Given the description of an element on the screen output the (x, y) to click on. 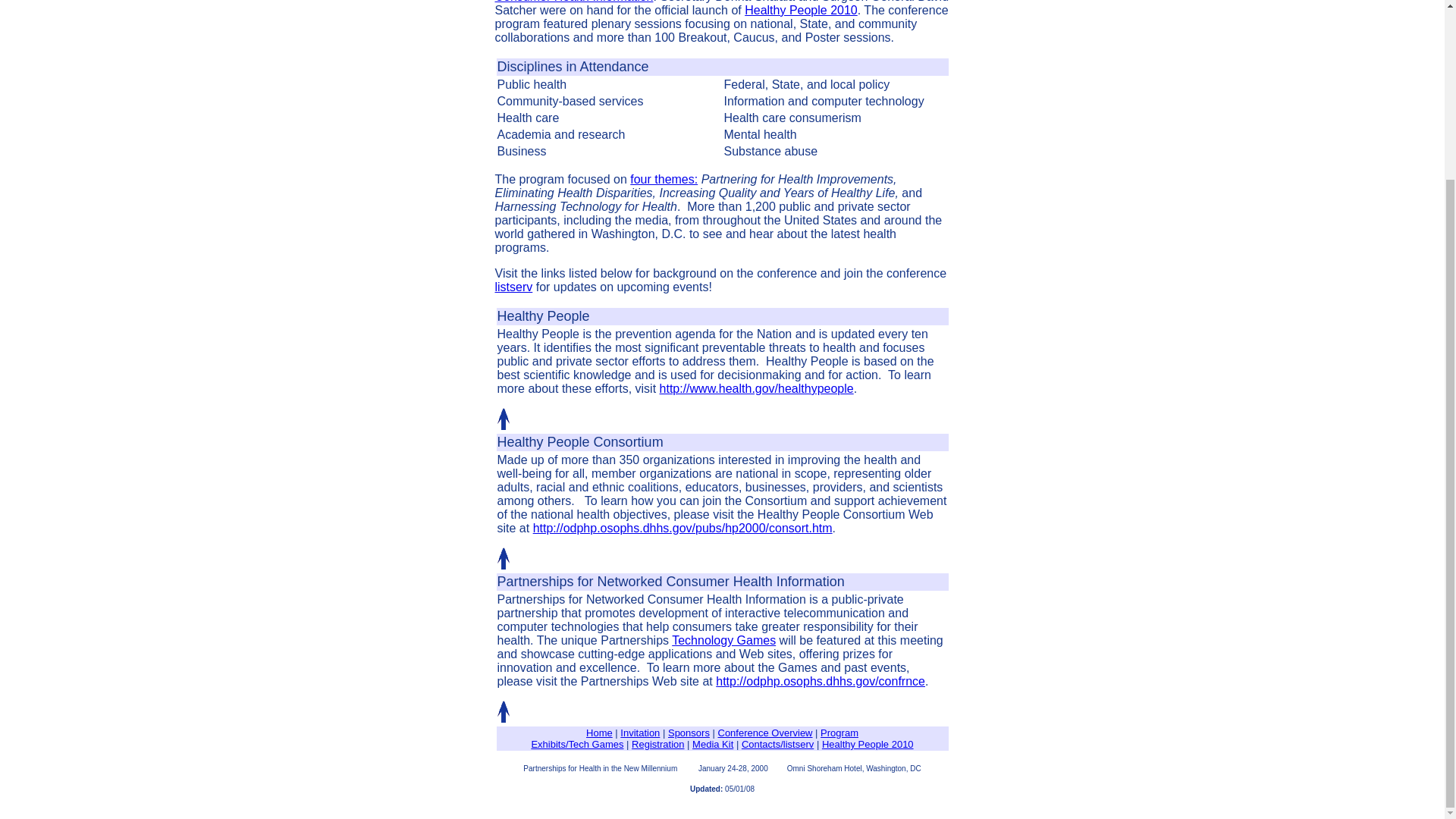
Consortium (628, 441)
Technology Games (723, 640)
Program (840, 732)
Home (599, 732)
Healthy People 2010 (800, 10)
listserv (513, 286)
four themes: (663, 178)
Partnerships (535, 581)
Healthy People (543, 316)
Healthy People 2010 (868, 744)
Media Kit (713, 744)
Invitation (639, 732)
Conference Overview (764, 732)
Sponsors (689, 732)
